Given the description of an element on the screen output the (x, y) to click on. 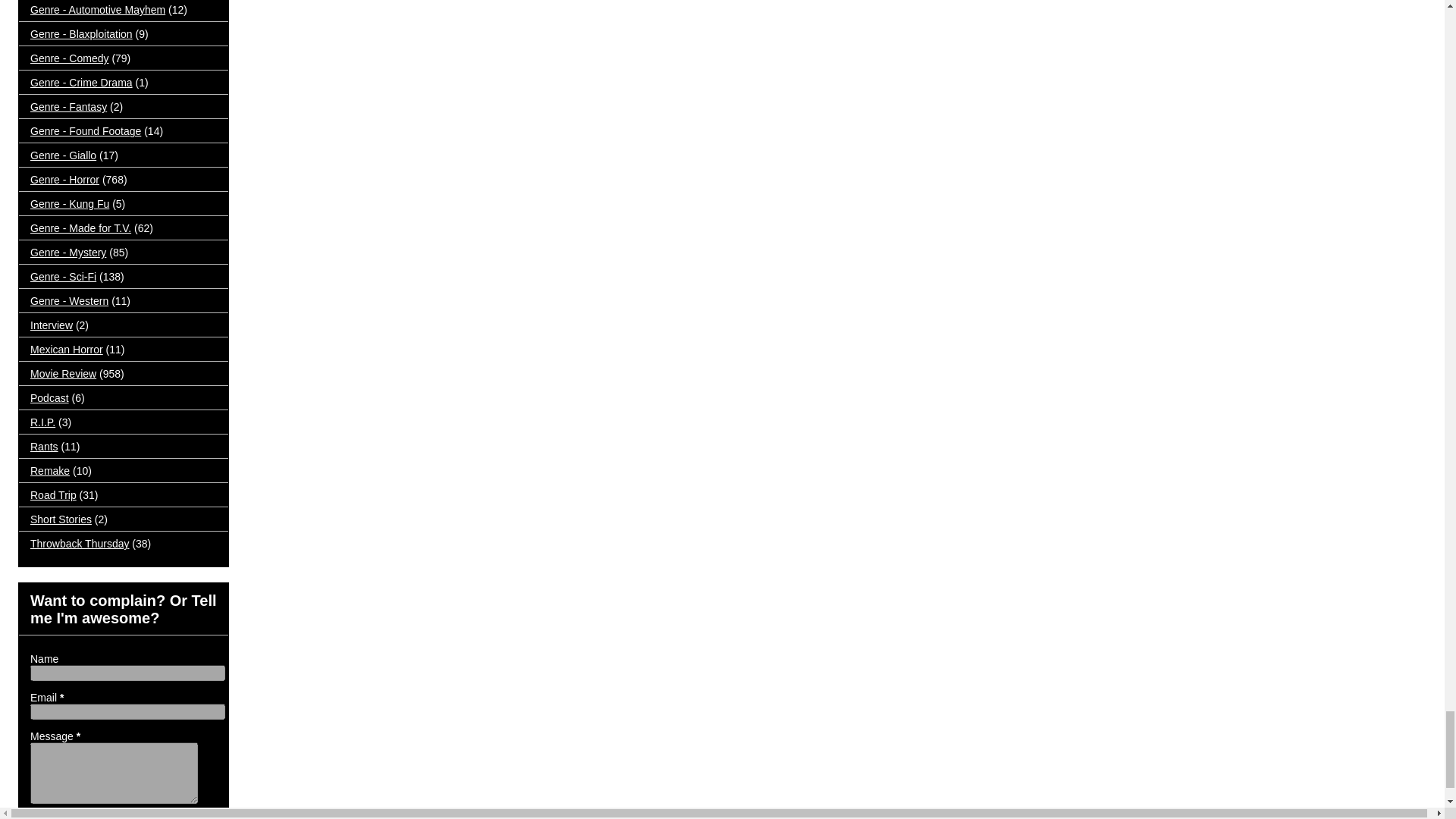
Send (47, 817)
